Given the description of an element on the screen output the (x, y) to click on. 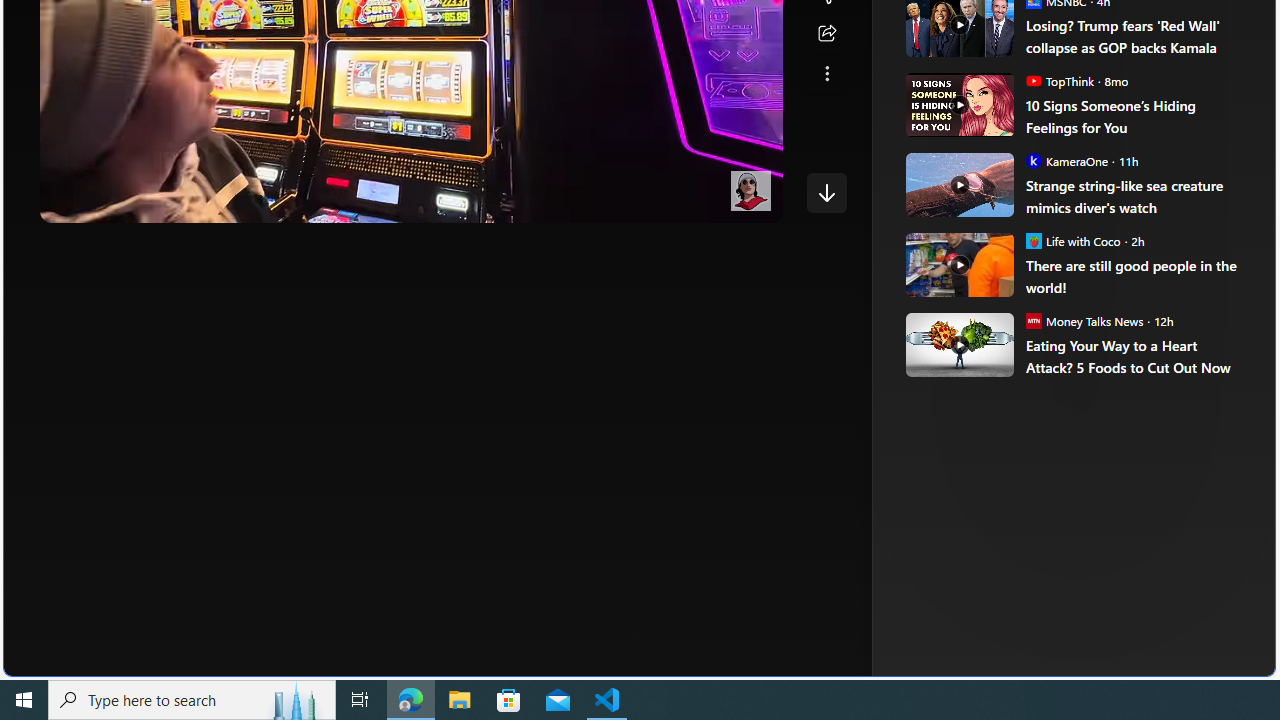
Strange string-like sea creature mimics diver's watch (1136, 196)
Money Talks News (1033, 320)
Eating Your Way to a Heart Attack? 5 Foods to Cut Out Now (958, 344)
Class: control (826, 192)
KameraOne (1033, 160)
Watch on YouTube (697, 202)
Channel watermark (750, 191)
Class: ytp-subtitles-button-icon (603, 202)
Share this story (826, 33)
